Given the description of an element on the screen output the (x, y) to click on. 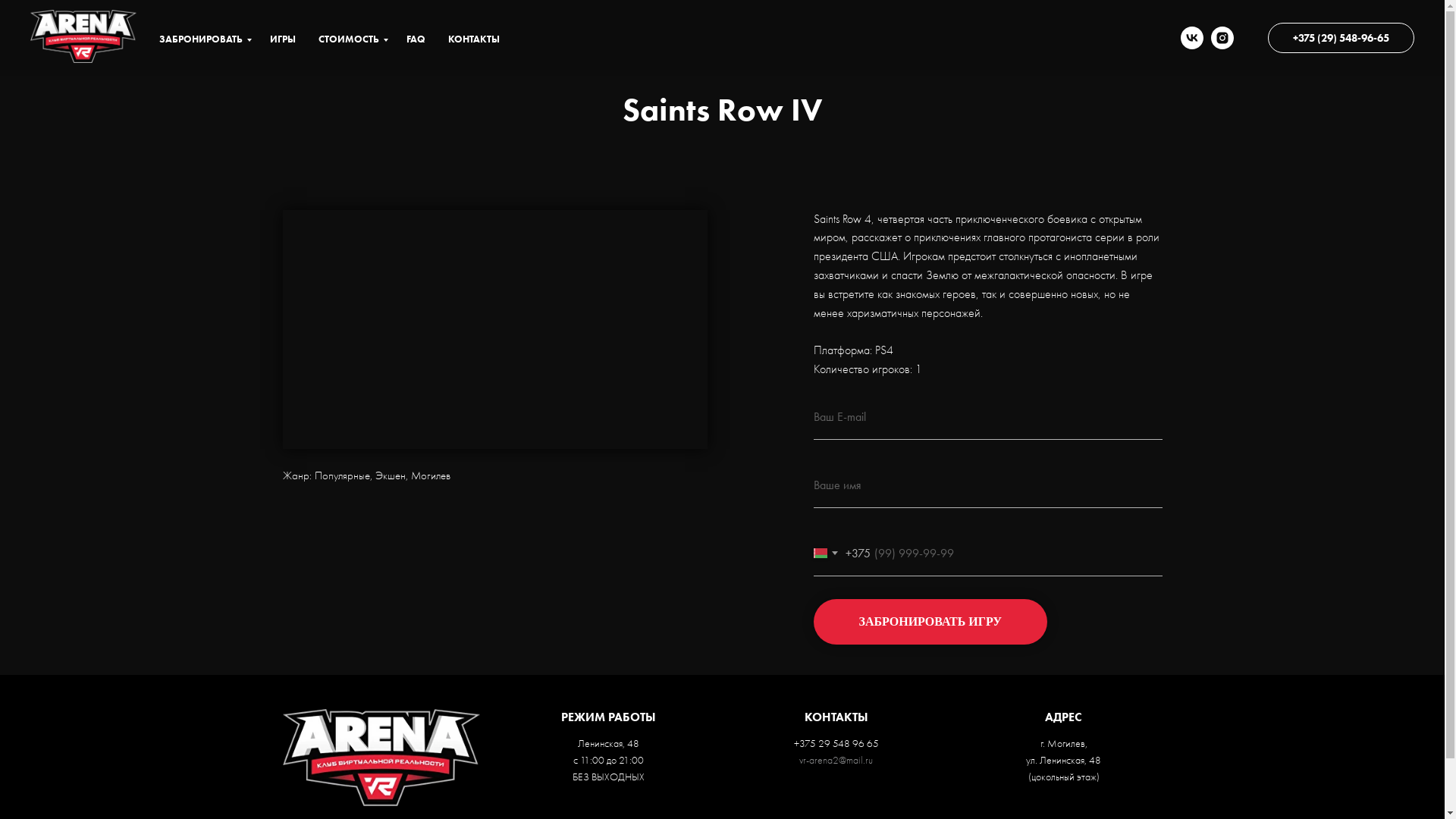
FAQ Element type: text (415, 37)
+375 (29) 548-96-65 Element type: text (1340, 37)
